Given the description of an element on the screen output the (x, y) to click on. 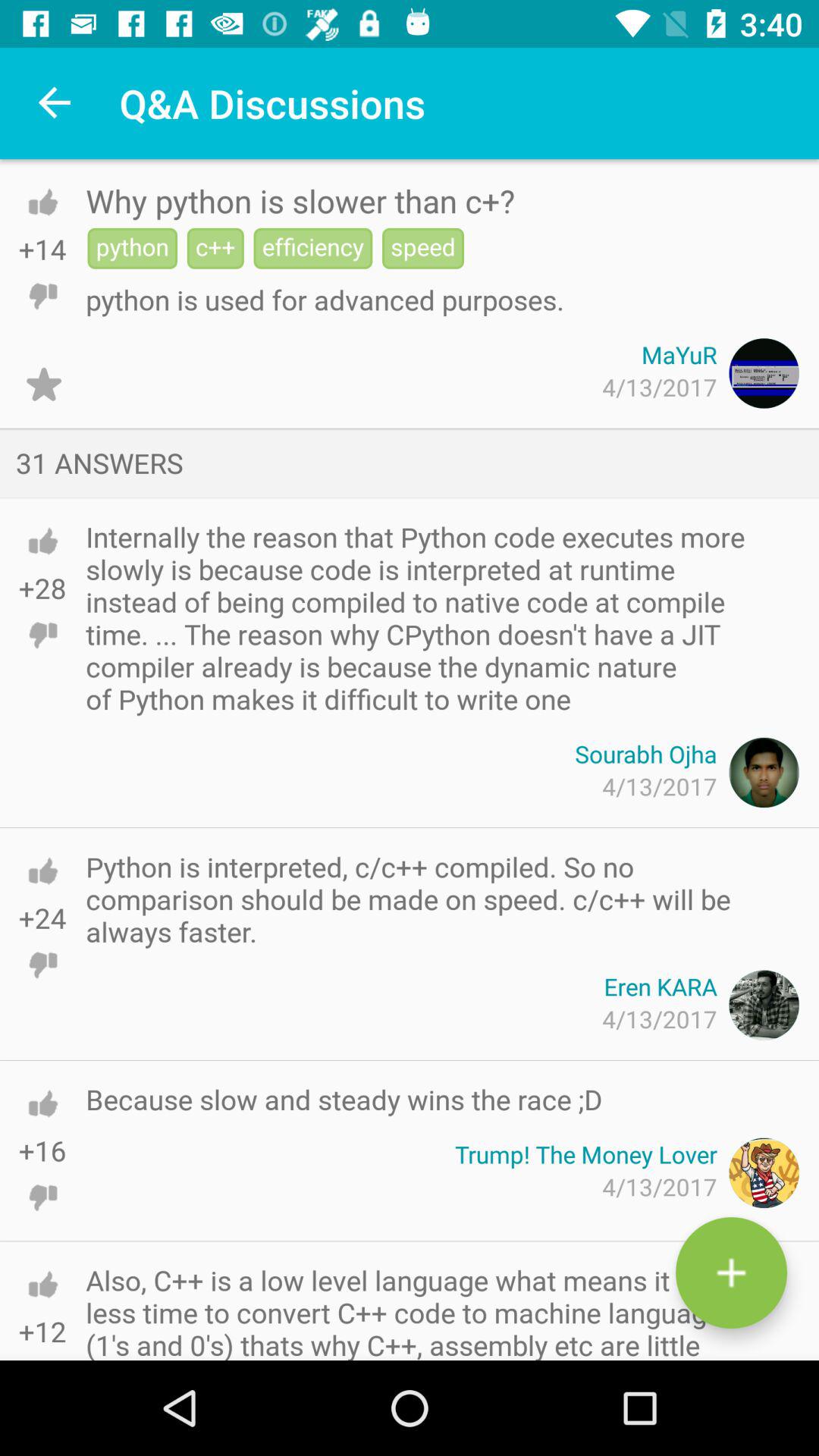
dislike/ downvote (42, 296)
